Given the description of an element on the screen output the (x, y) to click on. 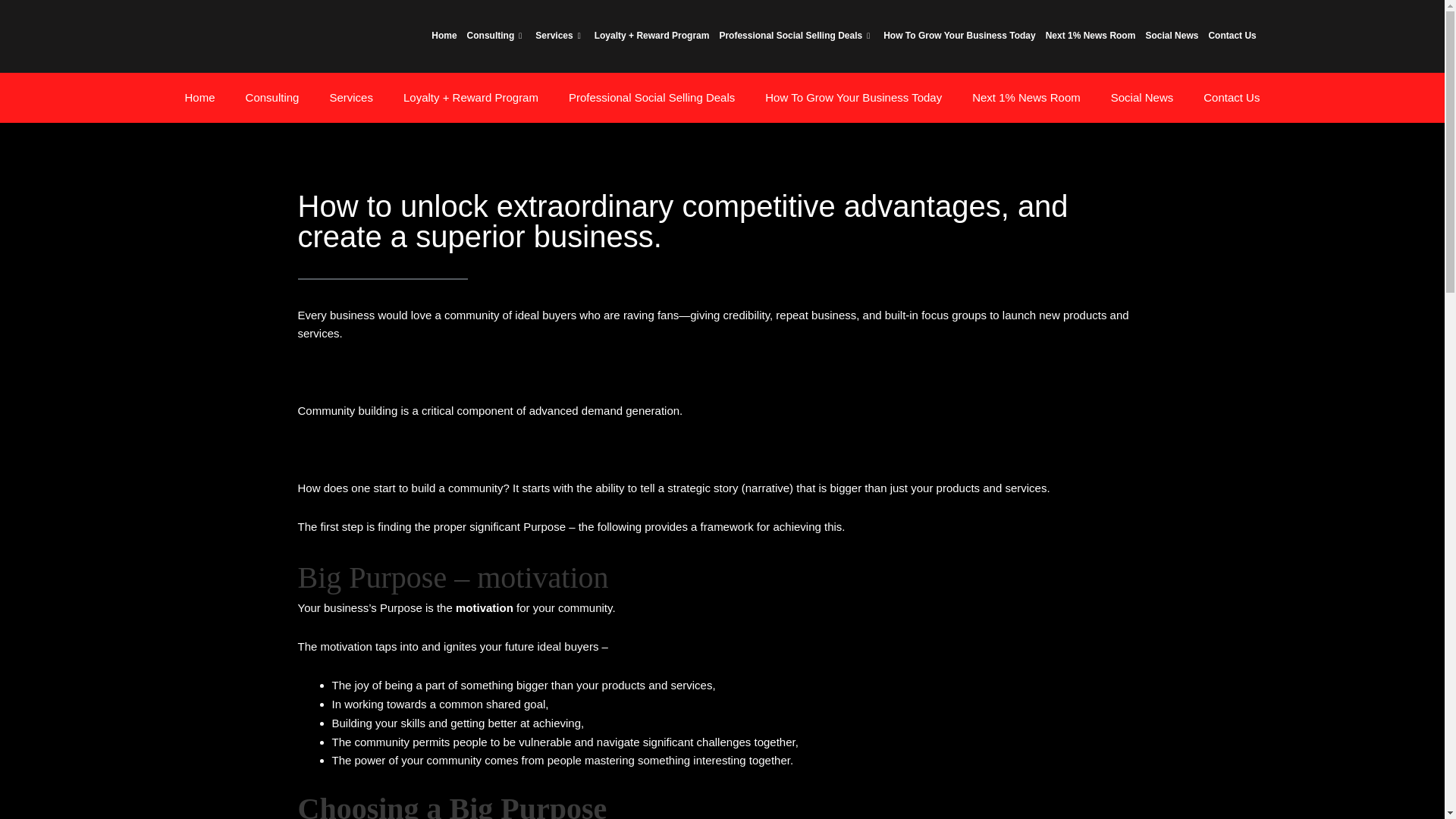
Professional Social Selling Deals (795, 36)
How To Grow Your Business Today (958, 36)
Home (200, 97)
Consulting (272, 97)
Contact Us (1231, 36)
Services (558, 36)
Social News (1171, 36)
Consulting (496, 36)
